Given the description of an element on the screen output the (x, y) to click on. 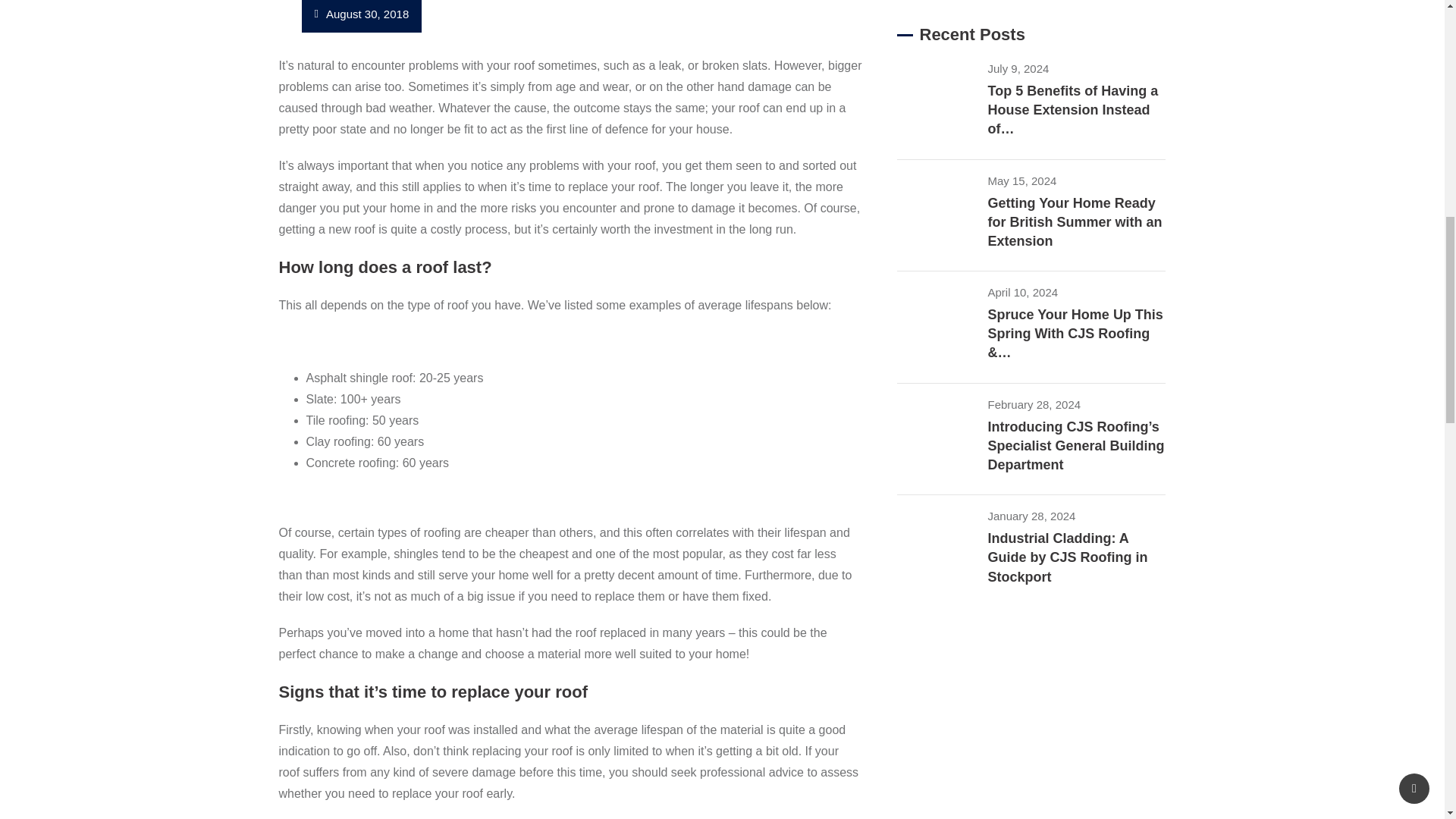
Getting Your Home Ready for British Summer with an Extension (941, 212)
Industrial Cladding: A Guide by CJS Roofing in Stockport (941, 548)
